Given the description of an element on the screen output the (x, y) to click on. 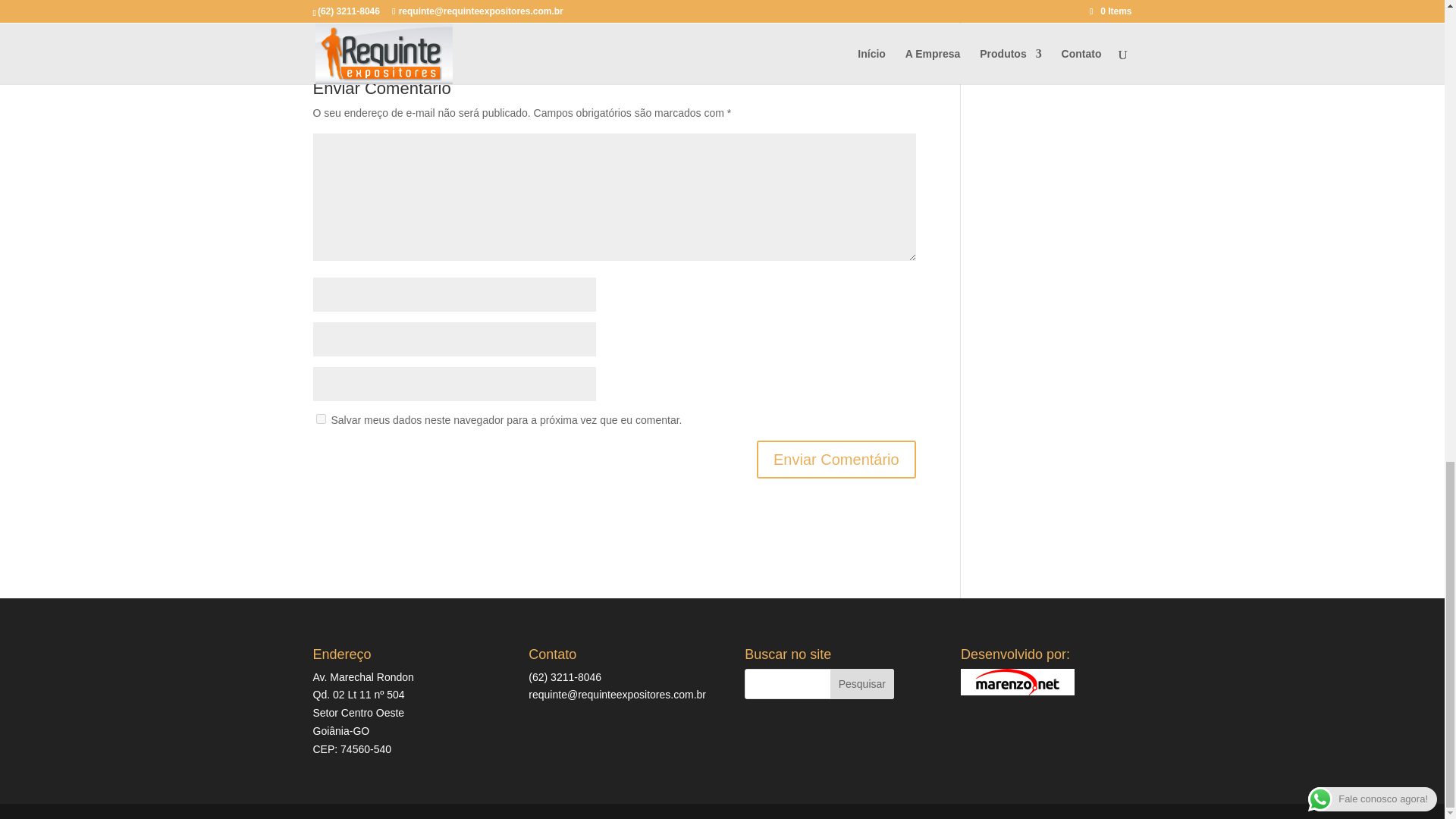
Pesquisar (861, 684)
Pesquisar (861, 684)
yes (319, 419)
